Given the description of an element on the screen output the (x, y) to click on. 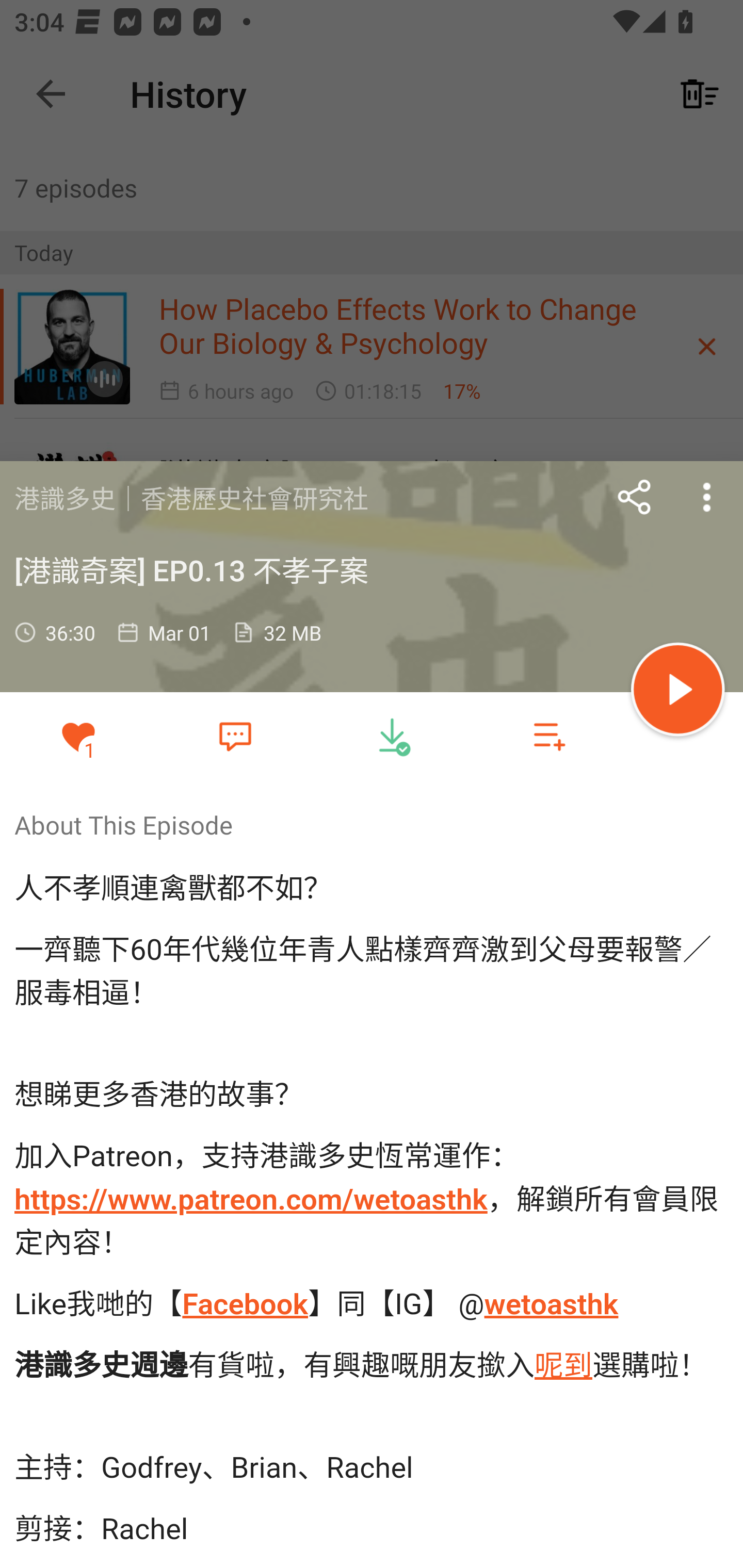
Share (634, 496)
more options (706, 496)
Play (677, 692)
Favorite (234, 735)
Remove from Favorites (78, 735)
Downloaded (391, 735)
Add to playlist (548, 735)
https://www.patreon.com/wetoasthk (250, 1199)
⁠⁠⁠⁠Facebook⁠⁠⁠⁠ (244, 1303)
⁠⁠⁠⁠wetoasthk⁠⁠⁠⁠ (550, 1303)
⁠⁠⁠⁠呢到⁠⁠⁠⁠ (563, 1364)
